Given the description of an element on the screen output the (x, y) to click on. 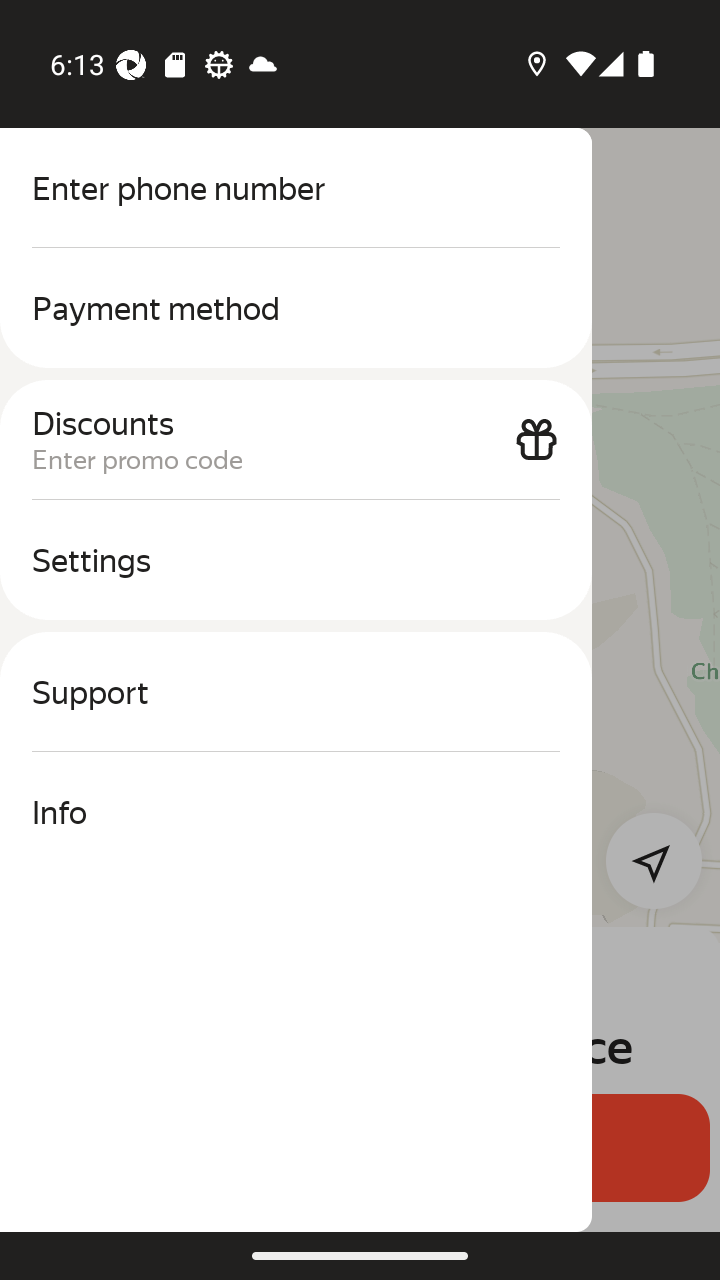
Enter phone number (295, 188)
Payment method (295, 308)
Settings (295, 559)
Support (295, 692)
Info (295, 811)
